Given the description of an element on the screen output the (x, y) to click on. 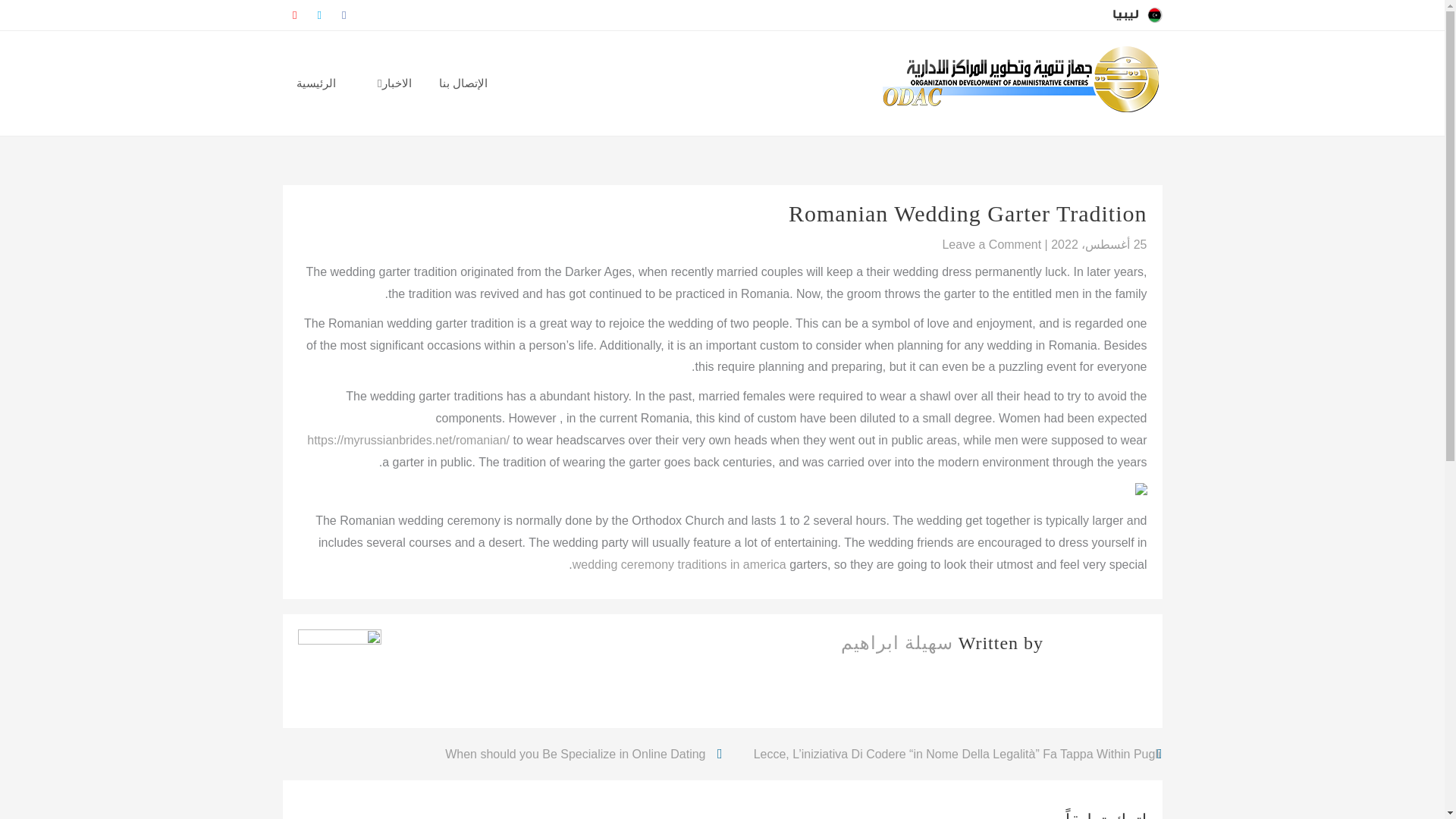
Leave a Comment (991, 244)
When should you Be Specialize in Online Dating (582, 754)
wedding ceremony traditions in america (679, 563)
